Given the description of an element on the screen output the (x, y) to click on. 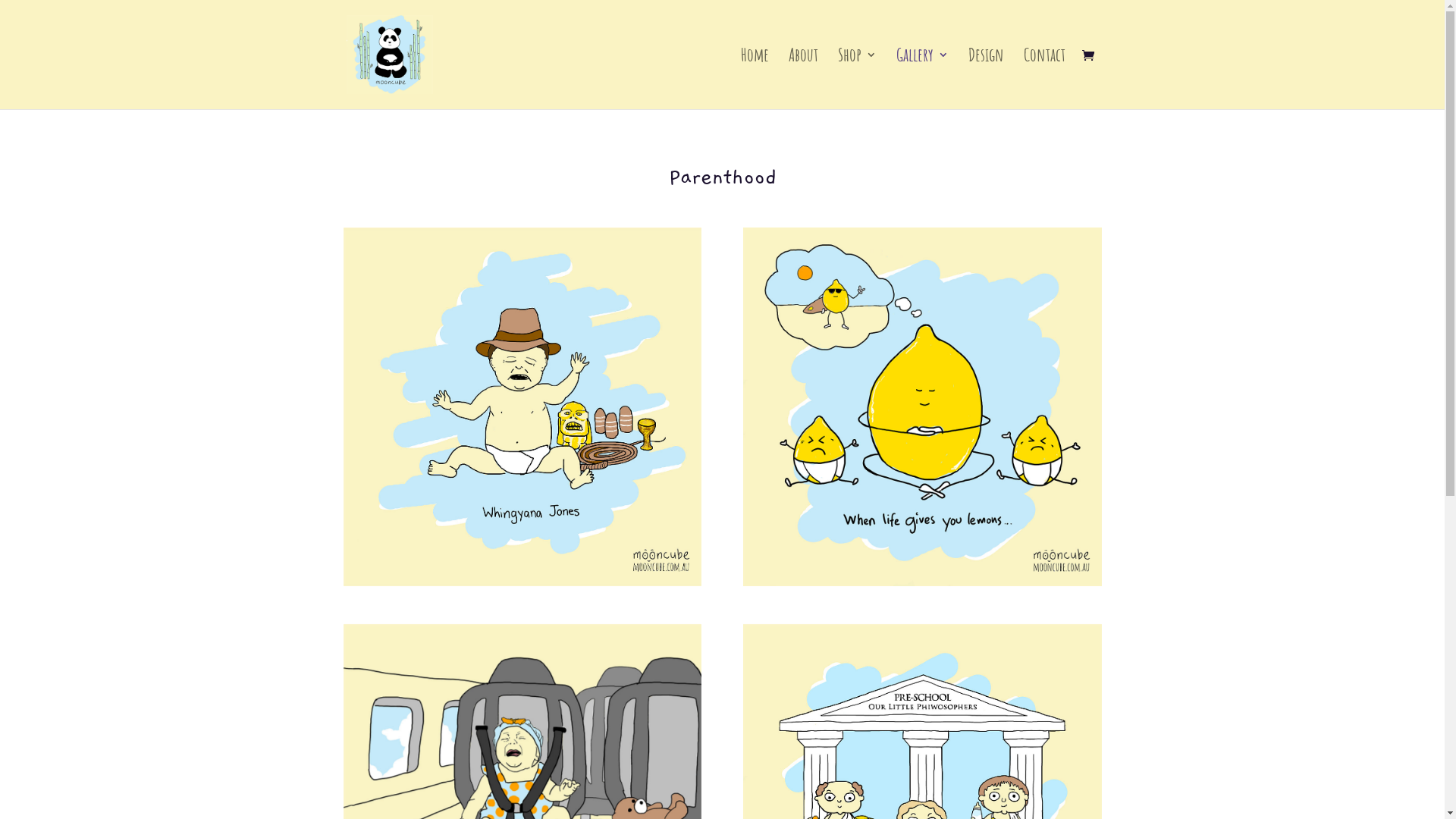
About Element type: text (803, 79)
Shop Element type: text (856, 79)
Home Element type: text (754, 79)
Gallery Element type: text (922, 79)
Design Element type: text (985, 79)
Contact Element type: text (1044, 79)
